Given the description of an element on the screen output the (x, y) to click on. 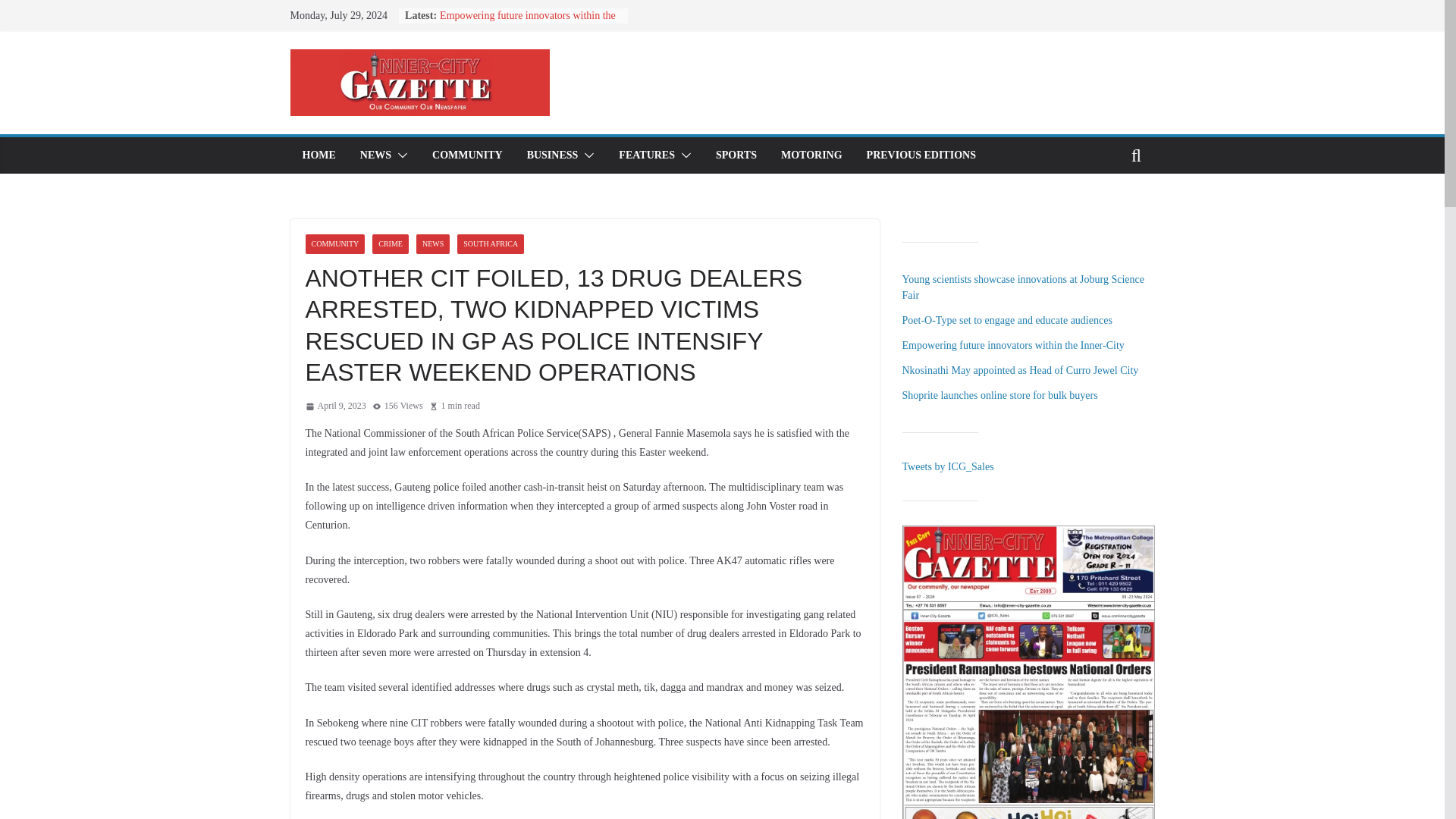
7:58 pm (334, 406)
April 9, 2023 (334, 406)
CRIME (390, 243)
BUSINESS (552, 155)
SOUTH AFRICA (490, 243)
MOTORING (811, 155)
NEWS (432, 243)
COMMUNITY (467, 155)
PREVIOUS EDITIONS (920, 155)
COMMUNITY (334, 243)
FEATURES (646, 155)
HOME (317, 155)
Empowering future innovators within the Inner-City (527, 22)
Empowering future innovators within the Inner-City (527, 22)
SPORTS (736, 155)
